Given the description of an element on the screen output the (x, y) to click on. 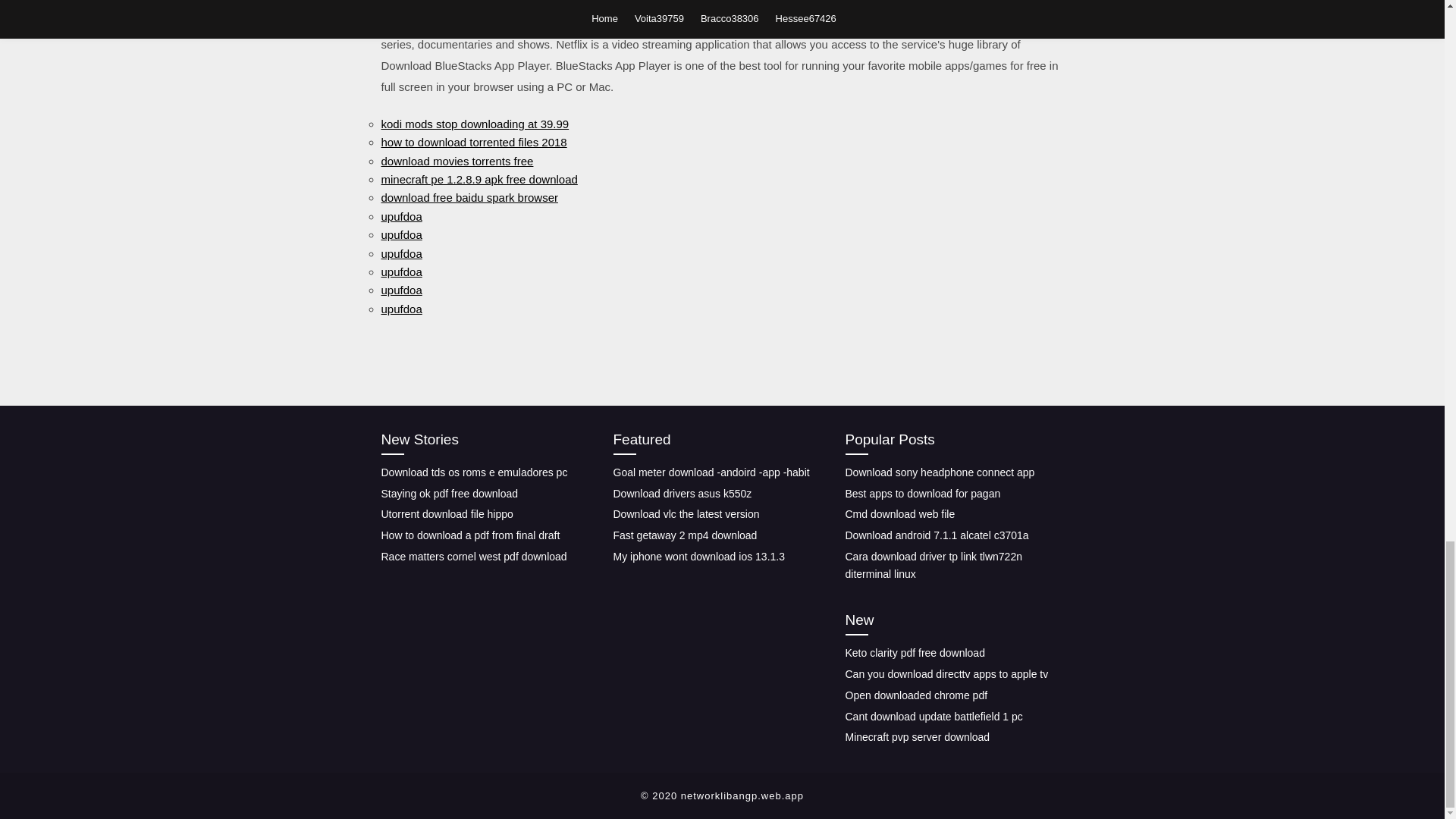
How to download a pdf from final draft (469, 535)
Staying ok pdf free download (449, 493)
kodi mods stop downloading at 39.99 (474, 123)
Race matters cornel west pdf download (473, 556)
upufdoa (401, 289)
upufdoa (401, 215)
minecraft pe 1.2.8.9 apk free download (478, 178)
download free baidu spark browser (468, 196)
upufdoa (401, 234)
how to download torrented files 2018 (473, 141)
